Given the description of an element on the screen output the (x, y) to click on. 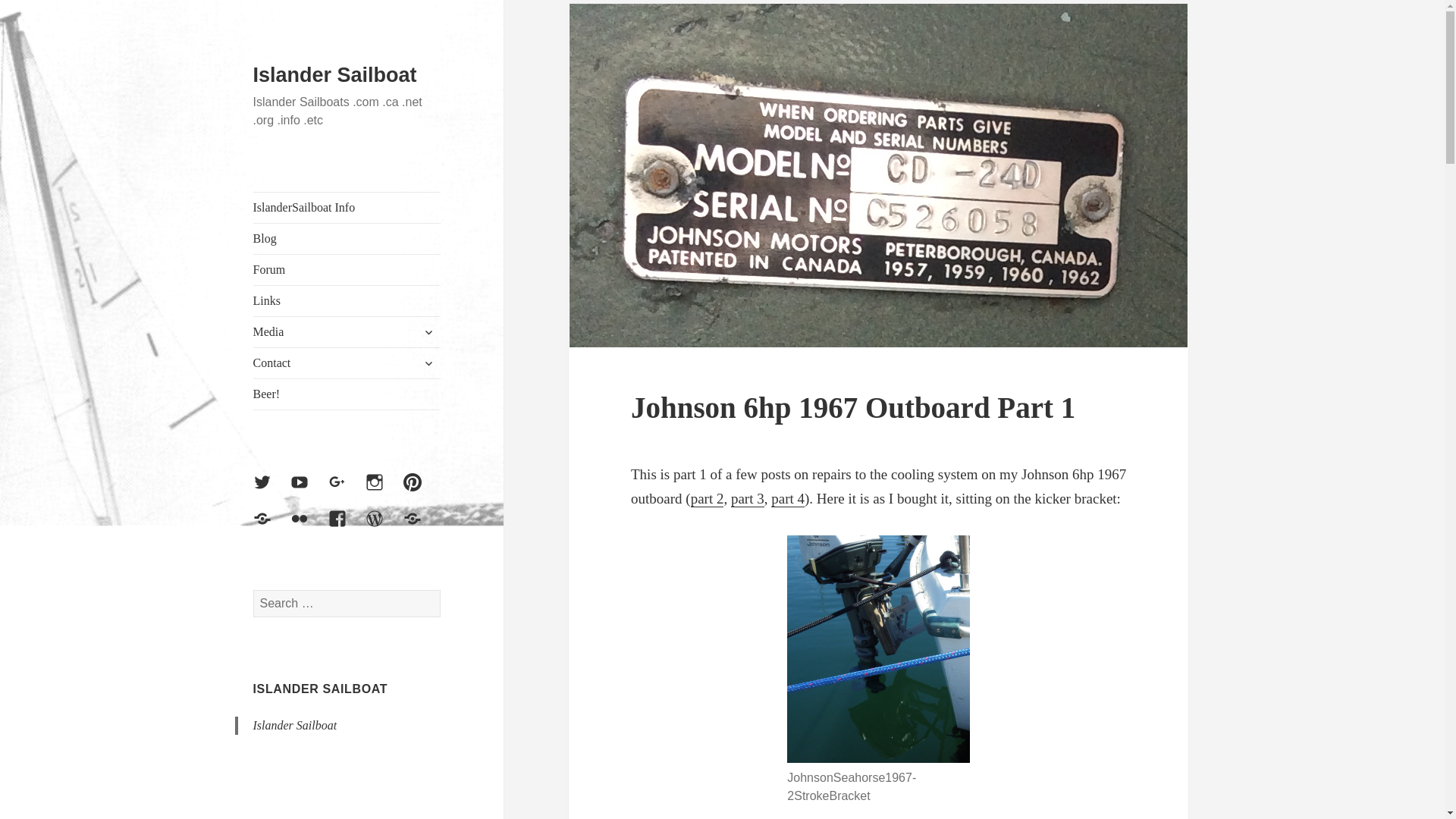
ISLANDER SAILBOAT (320, 688)
Media (347, 331)
Twitter (271, 491)
Islander Sailboat (334, 74)
IslanderSailboat Info (347, 207)
Patreon (421, 527)
Pinterest (421, 491)
Flickr (307, 527)
Instagram (383, 491)
